Given the description of an element on the screen output the (x, y) to click on. 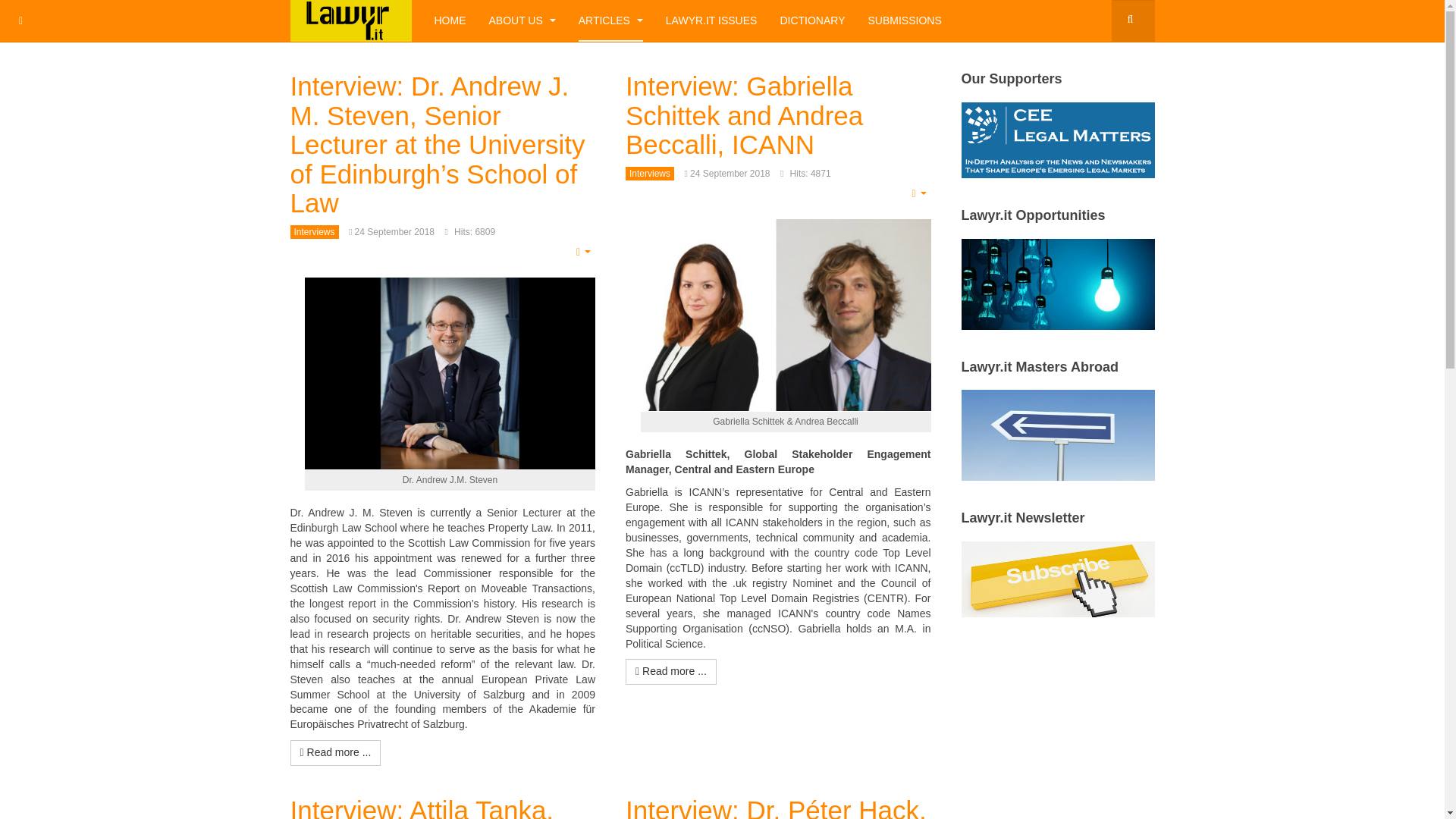
Interview: Gabriella Schittek and Andrea Beccalli, ICANN (744, 114)
Dr. Andrew J.M. Steven (449, 373)
Purity III (349, 20)
